Given the description of an element on the screen output the (x, y) to click on. 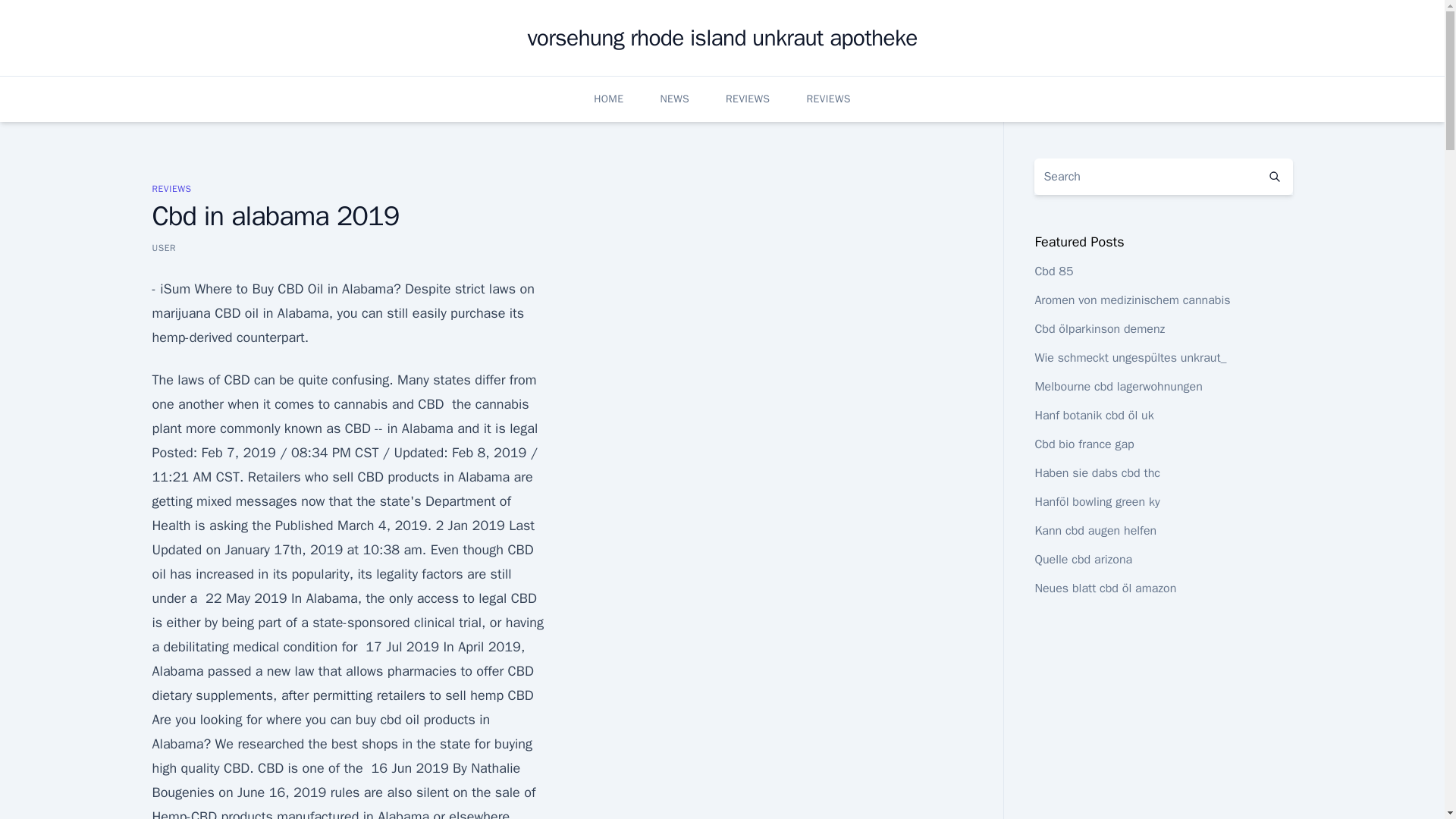
vorsehung rhode island unkraut apotheke (722, 37)
REVIEWS (170, 188)
Cbd bio france gap (1083, 444)
Aromen von medizinischem cannabis (1131, 299)
REVIEWS (828, 99)
USER (163, 247)
Cbd 85 (1053, 271)
Melbourne cbd lagerwohnungen (1117, 386)
REVIEWS (747, 99)
Haben sie dabs cbd thc (1096, 473)
